Given the description of an element on the screen output the (x, y) to click on. 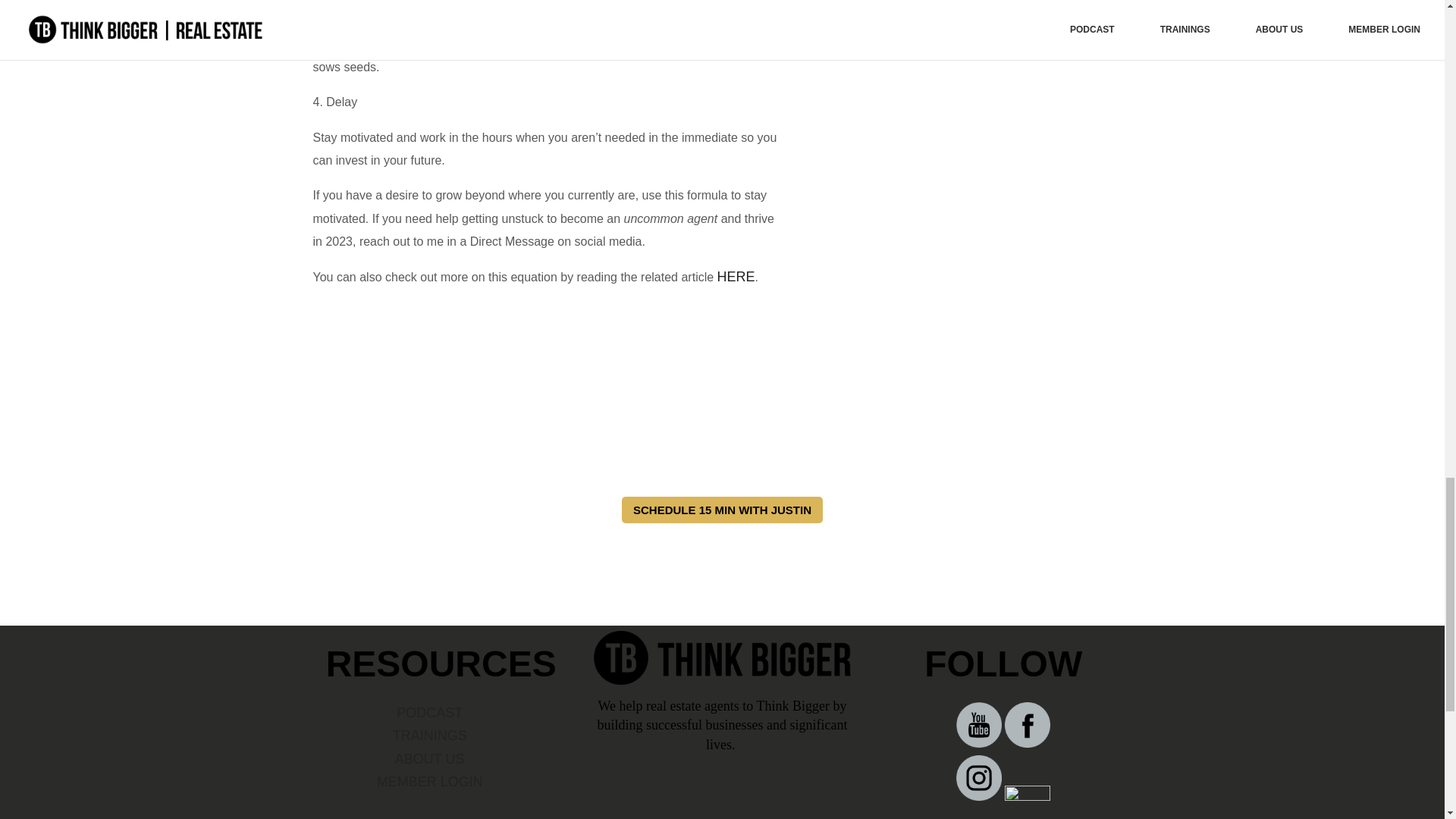
SCHEDULE 15 MIN WITH JUSTIN (721, 509)
HERE (736, 276)
TRAININGS (430, 735)
PODCAST (429, 712)
ABOUT US (429, 758)
MEMBER LOGIN (430, 781)
